Given the description of an element on the screen output the (x, y) to click on. 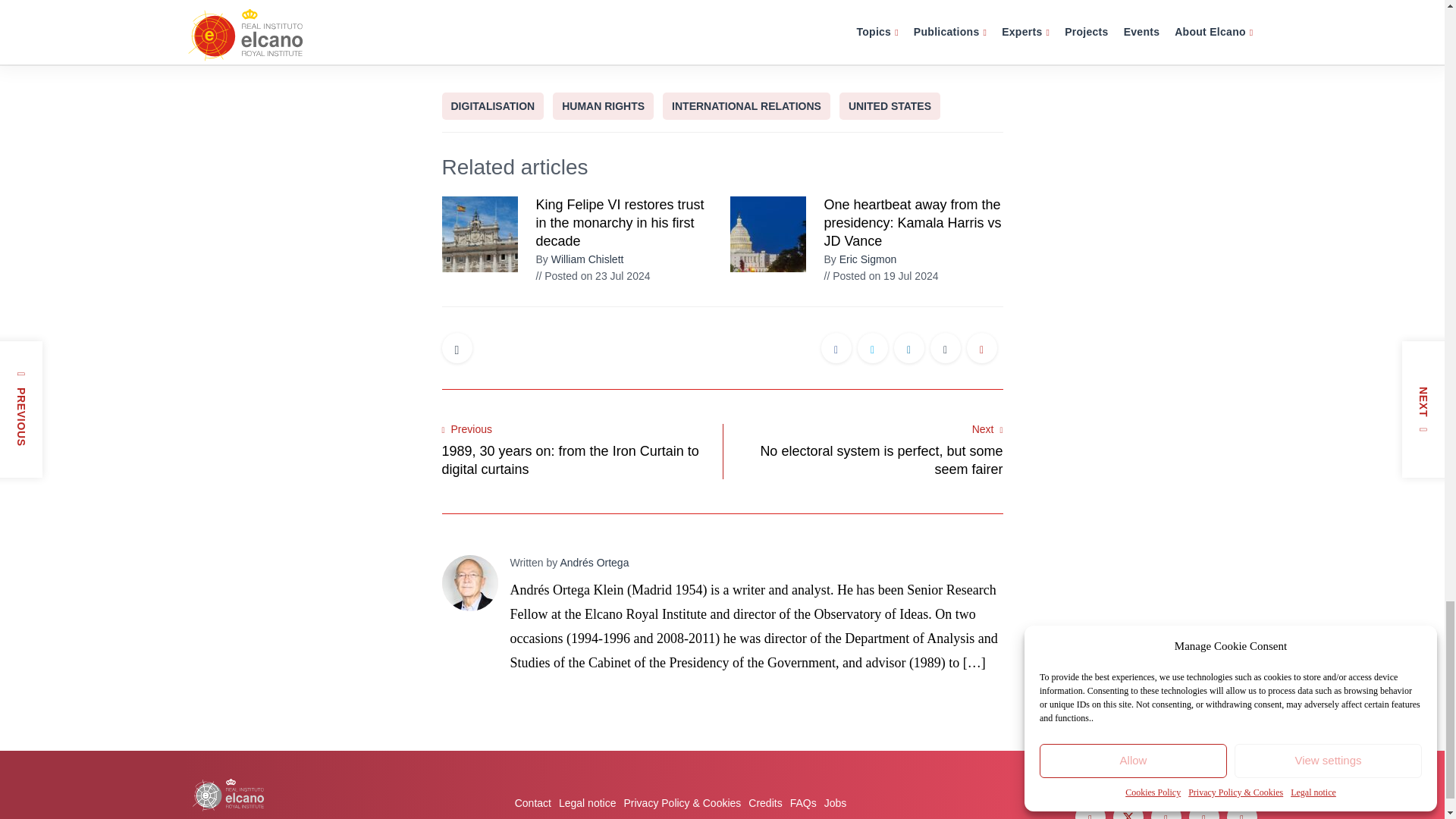
Posted on 19 Jul 2024 (880, 275)
Posted on 23 Jul 2024 (592, 275)
Copy Link (980, 349)
